Given the description of an element on the screen output the (x, y) to click on. 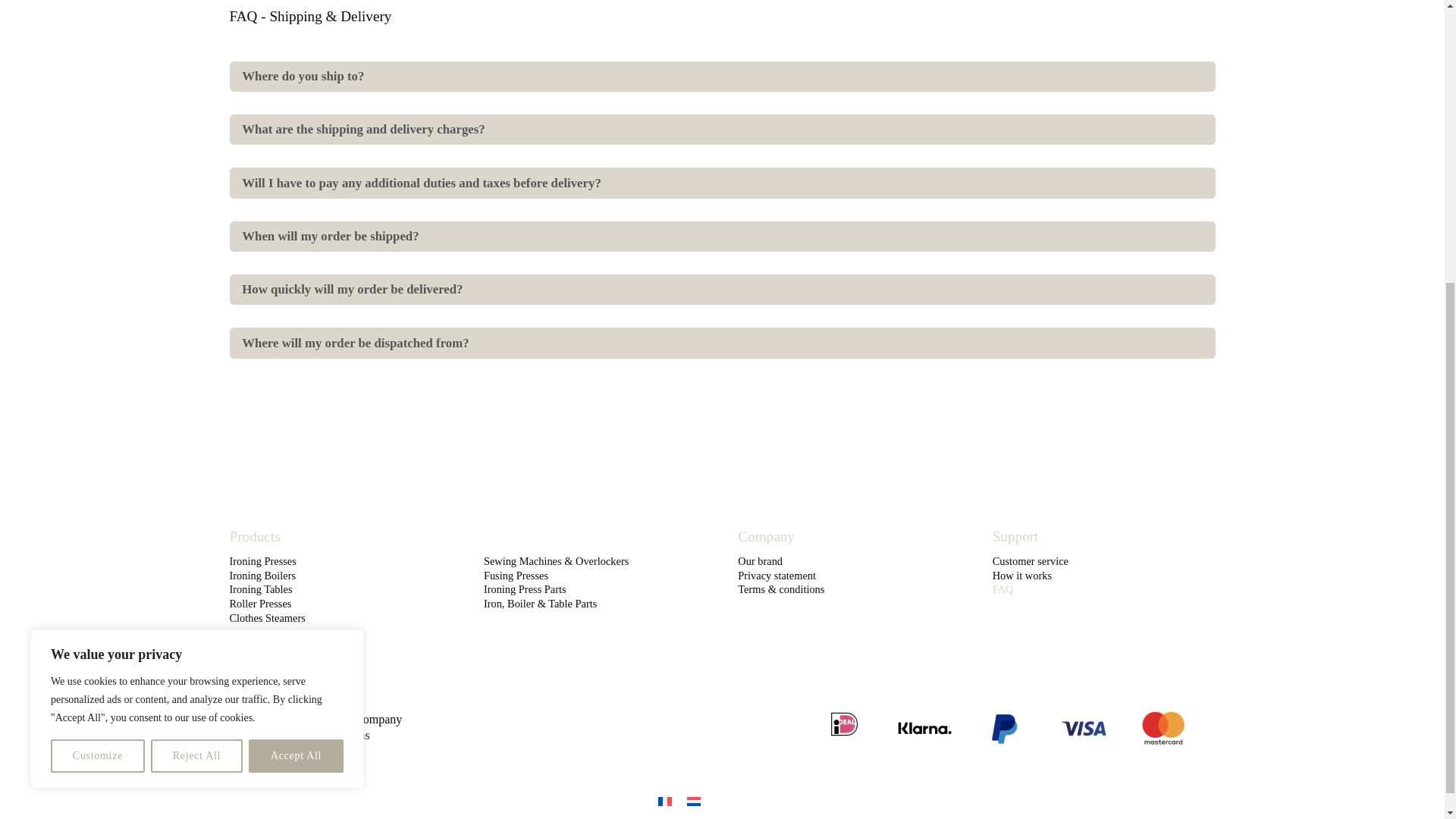
Accept All (1090, 575)
Customize (295, 318)
Reject All (97, 318)
